Given the description of an element on the screen output the (x, y) to click on. 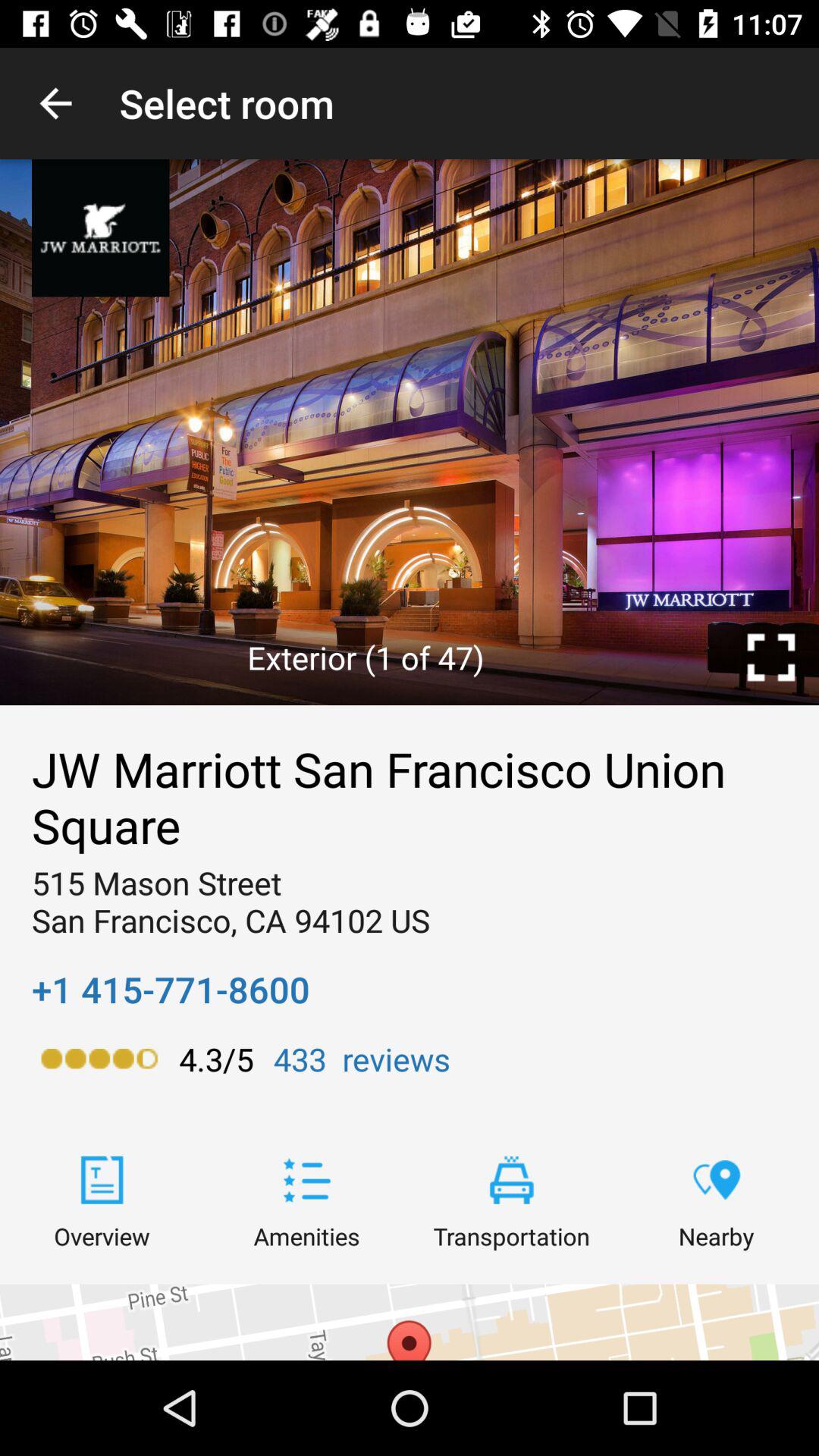
turn off the icon above jw marriott san item (771, 657)
